Given the description of an element on the screen output the (x, y) to click on. 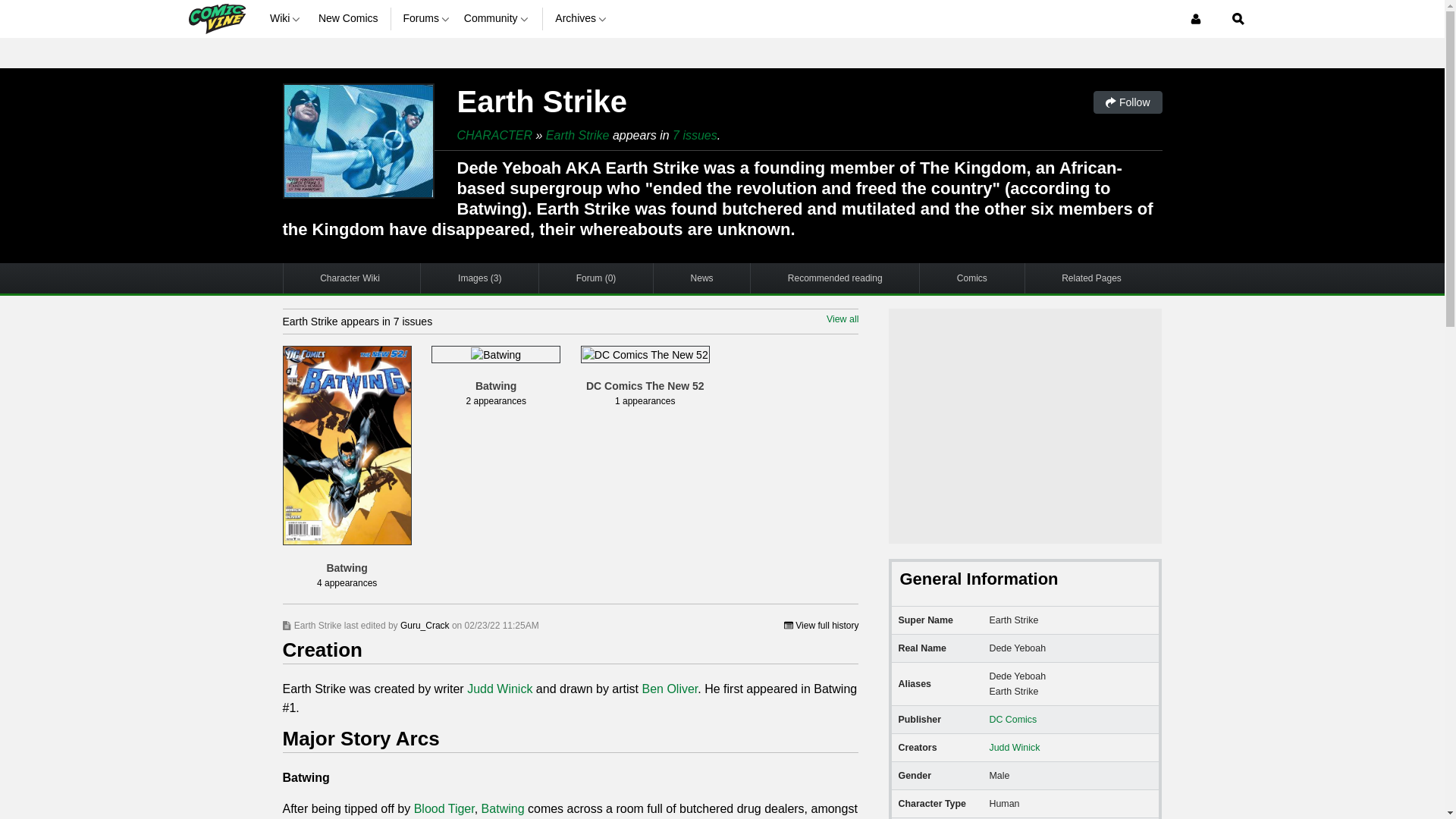
New Comics (348, 18)
Forums (427, 18)
Comic Vine (215, 18)
Wiki (287, 18)
Community (497, 18)
